Given the description of an element on the screen output the (x, y) to click on. 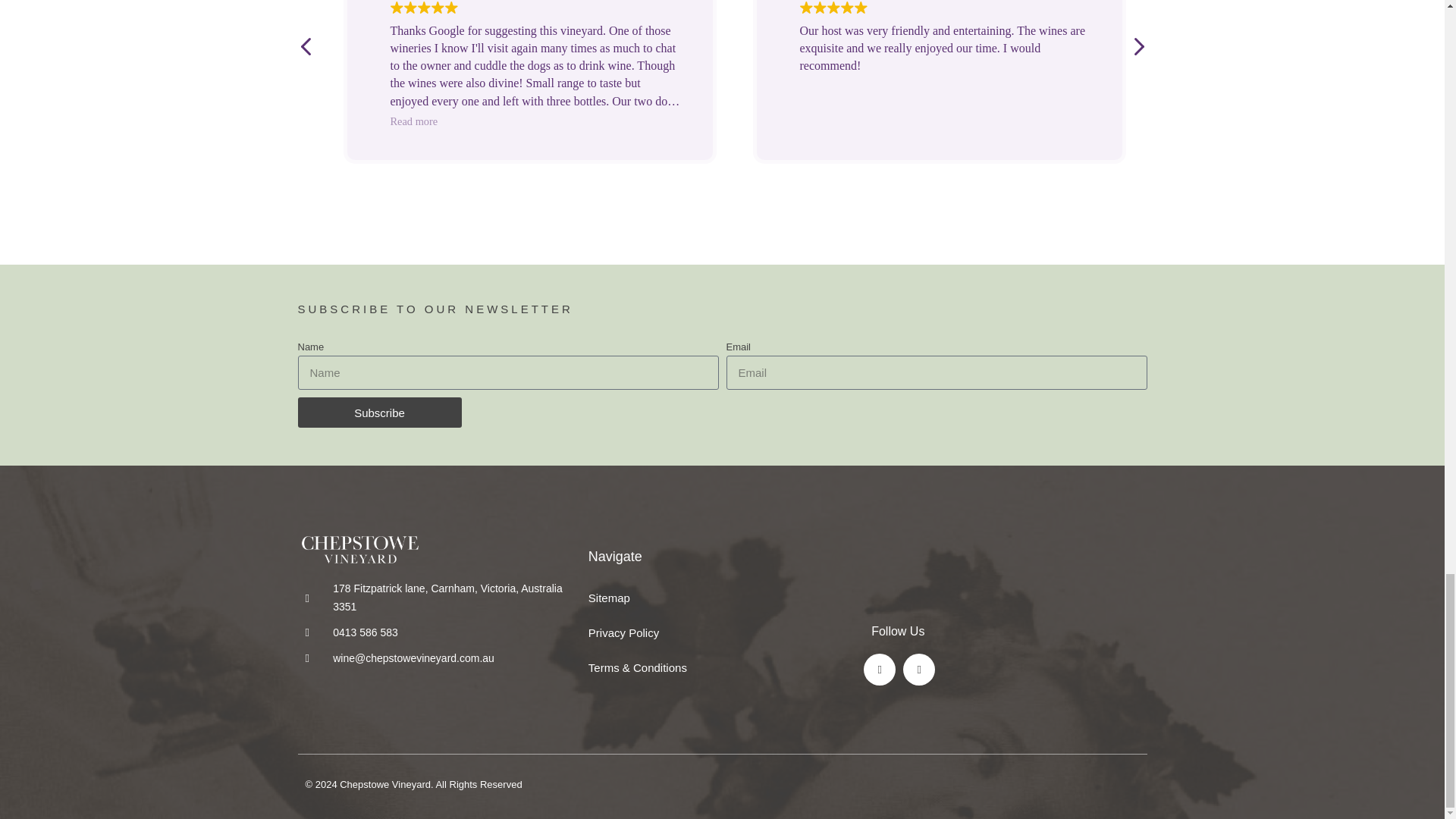
Subscribe (379, 412)
Privacy Policy (722, 632)
Sitemap (722, 597)
0413 586 583 (438, 633)
